Given the description of an element on the screen output the (x, y) to click on. 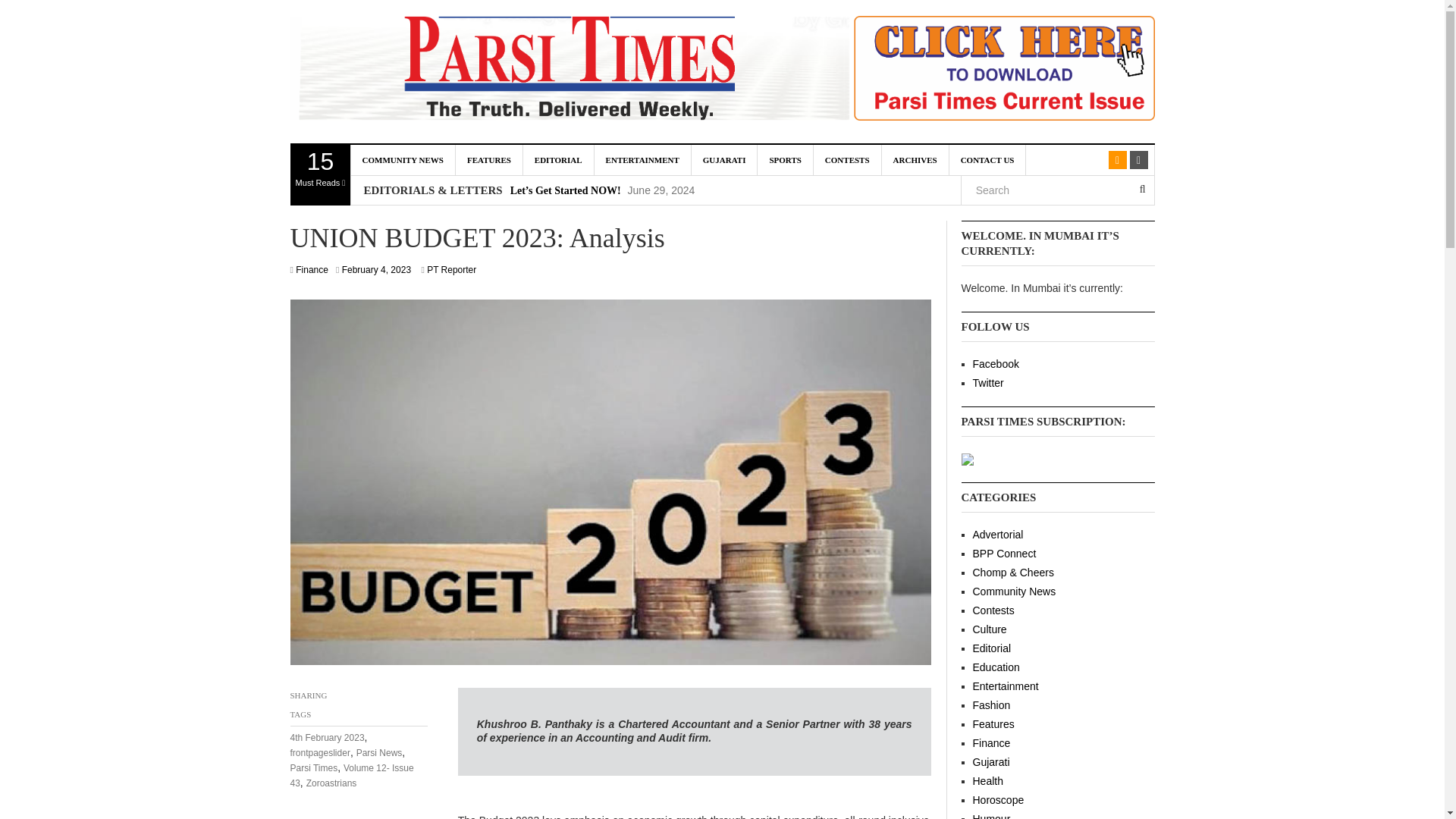
Parsi Times (564, 71)
PT Subscription (319, 174)
COMMUNITY NEWS (1012, 71)
FEATURES (402, 159)
PT SUBSCRIPTION (488, 159)
